Given the description of an element on the screen output the (x, y) to click on. 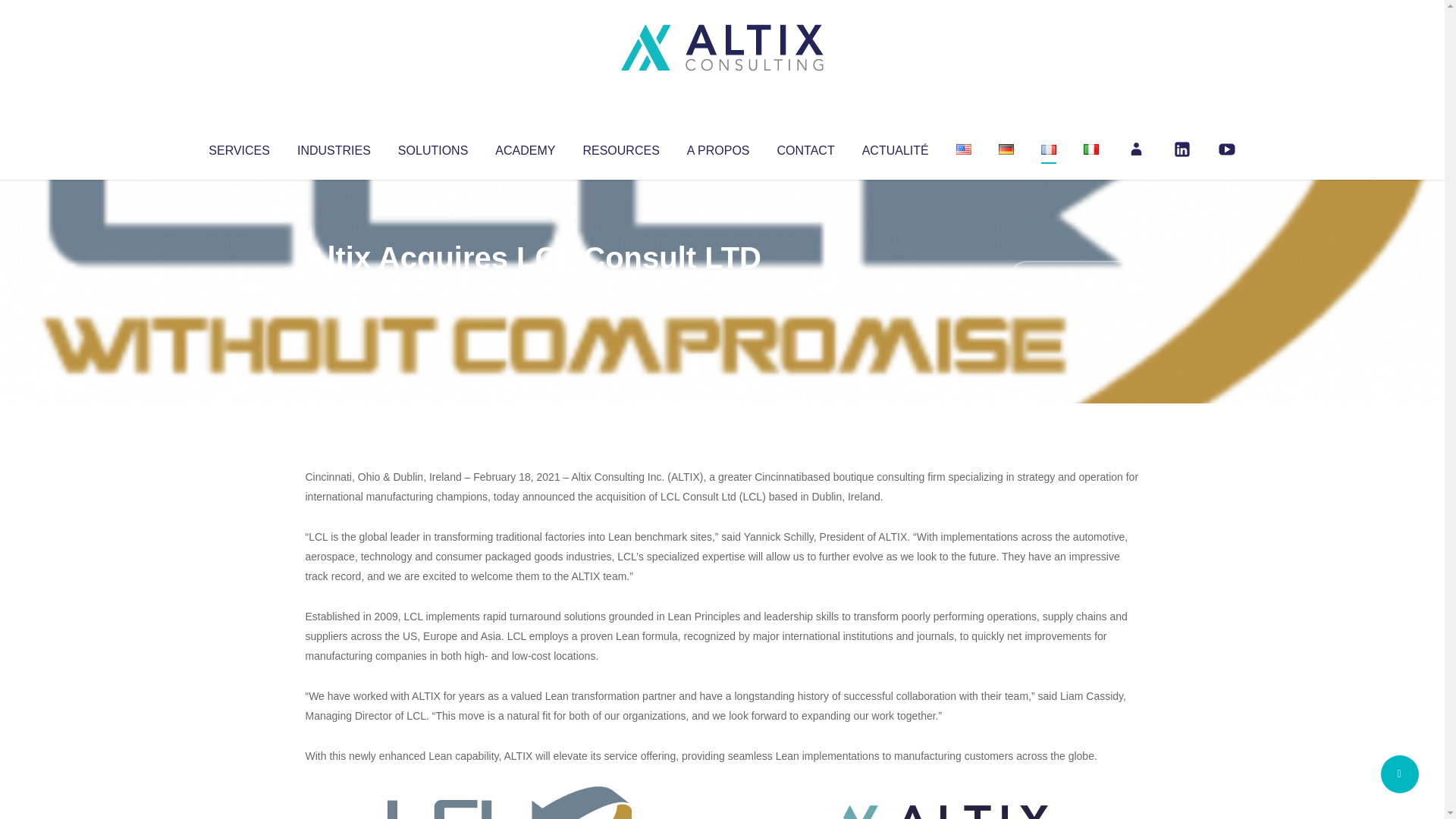
INDUSTRIES (334, 146)
A PROPOS (718, 146)
Articles par Altix (333, 287)
ACADEMY (524, 146)
RESOURCES (620, 146)
No Comments (1073, 278)
Uncategorized (530, 287)
SOLUTIONS (432, 146)
Altix (333, 287)
SERVICES (238, 146)
